Given the description of an element on the screen output the (x, y) to click on. 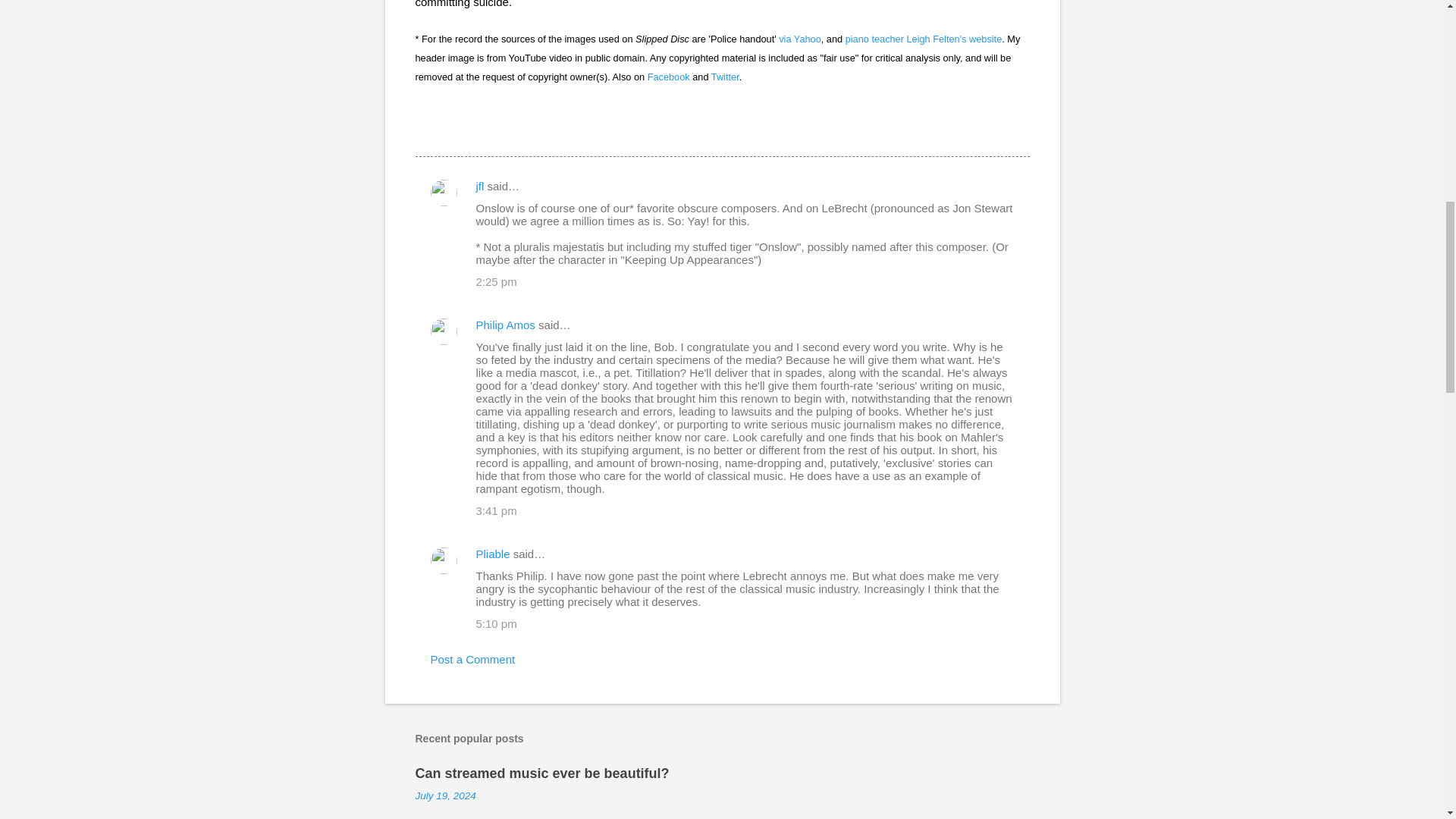
jfl (480, 185)
2:25 pm (496, 281)
Facebook (668, 76)
Philip Amos (505, 324)
Twitter (725, 76)
Pliable (493, 553)
via Yahoo (799, 39)
piano teacher Leigh Felten's website (924, 39)
Email Post (423, 128)
3:41 pm (496, 510)
comment permalink (496, 281)
5:10 pm (496, 623)
Post a Comment (472, 658)
